Given the description of an element on the screen output the (x, y) to click on. 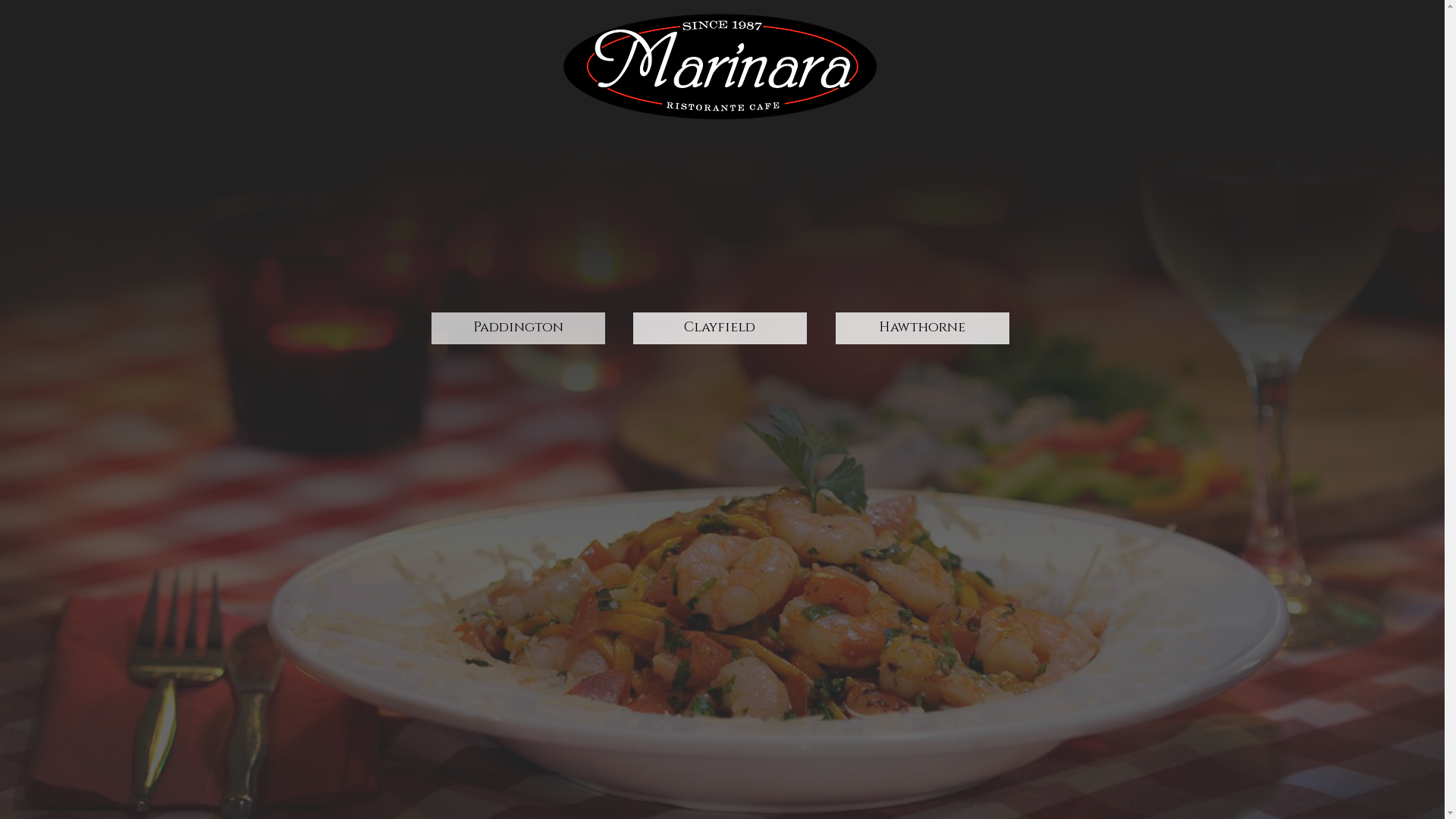
Paddington Element type: text (517, 328)
Clayfield Element type: text (719, 328)
Hawthorne Element type: text (922, 328)
